Given the description of an element on the screen output the (x, y) to click on. 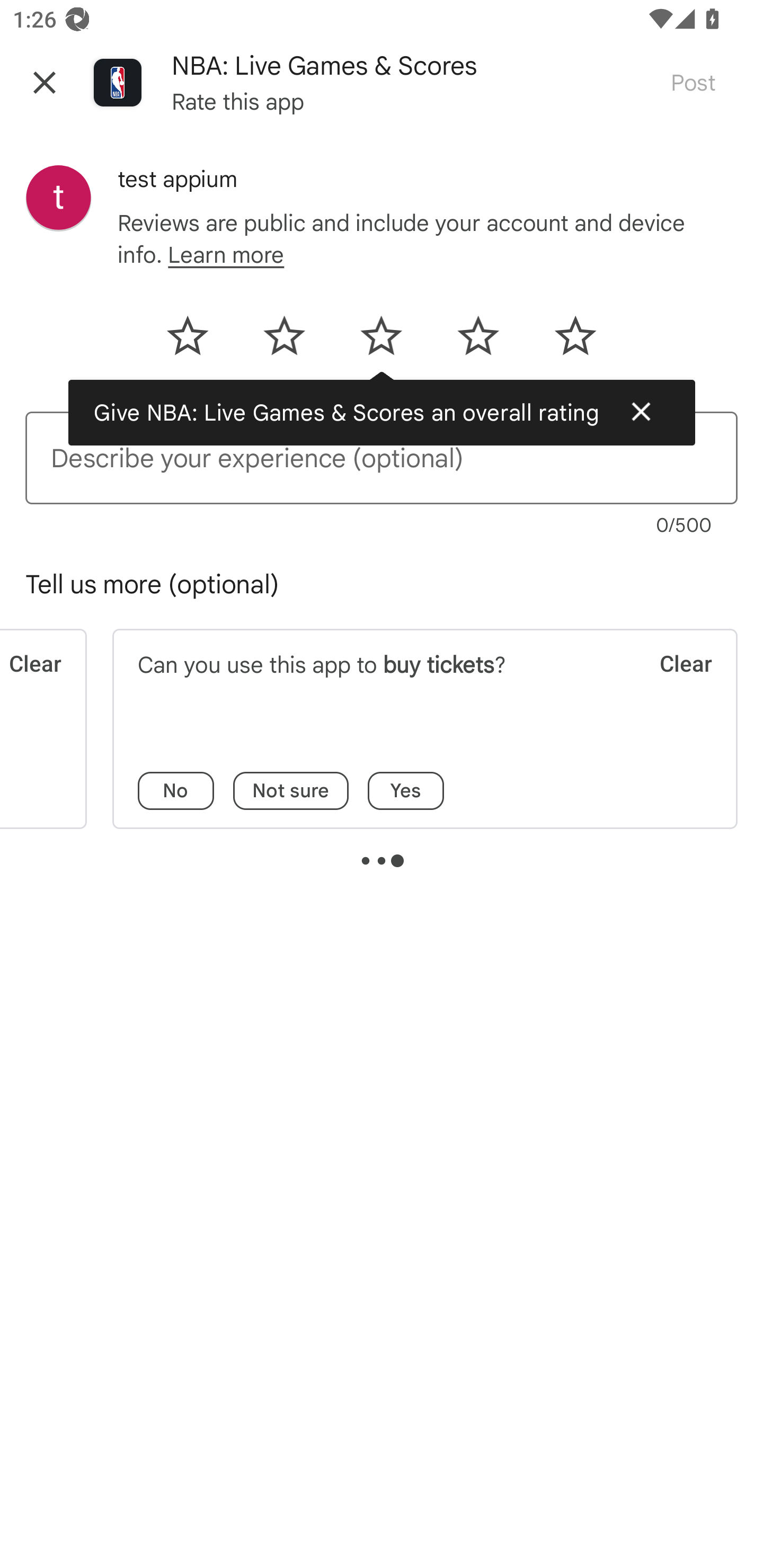
Close (44, 82)
Post (692, 81)
First star unselected (198, 341)
Second star unselected (283, 341)
Third star unselected (380, 341)
Fourth star unselected (477, 341)
Fifth star unselected (563, 341)
Close (640, 411)
Describe your experience (optional) (381, 457)
Clear (30, 685)
Clear (673, 685)
No (176, 790)
Not sure (290, 790)
Yes (405, 790)
